Given the description of an element on the screen output the (x, y) to click on. 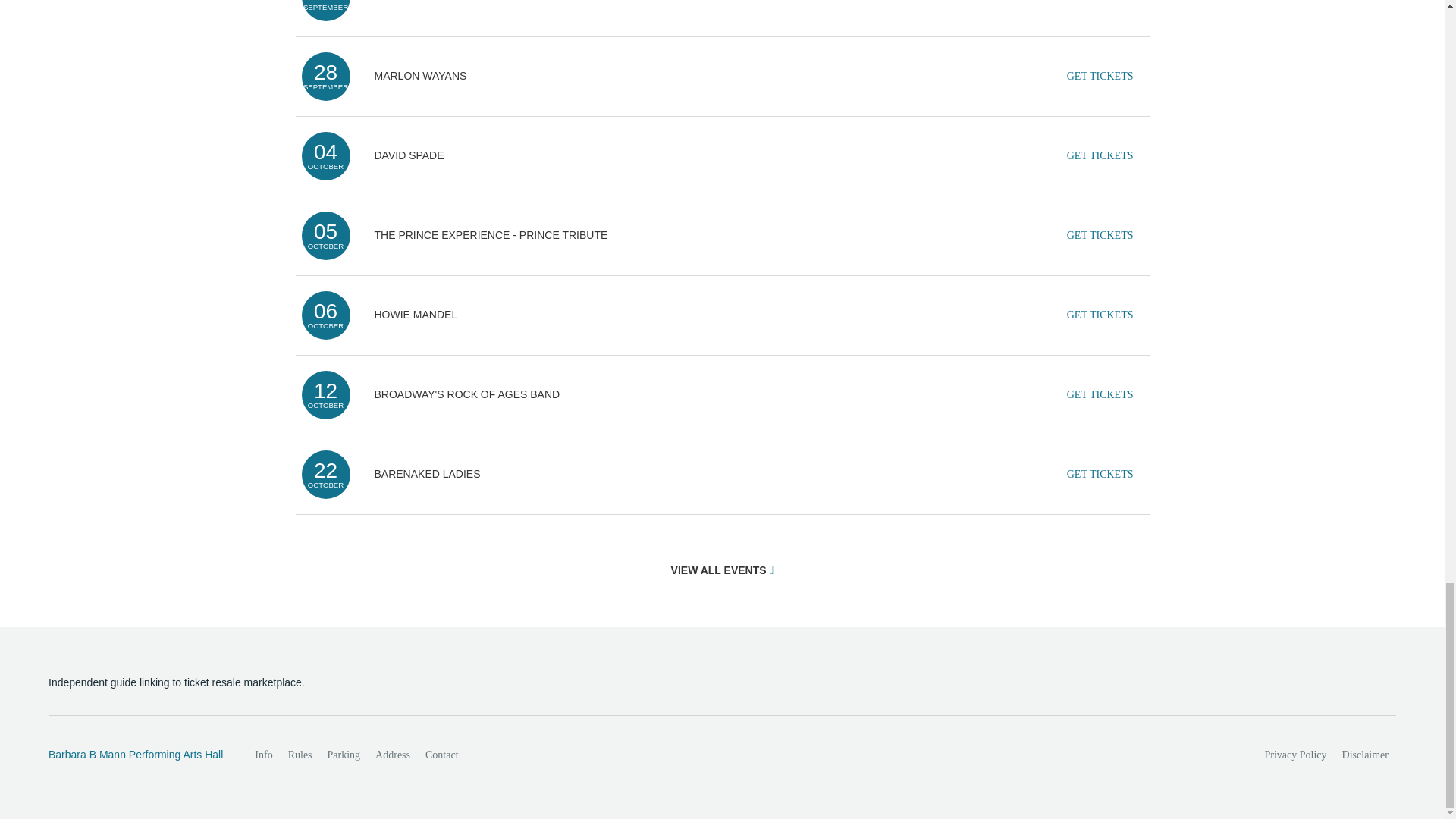
Privacy Policy (1296, 755)
GET TICKETS (1099, 5)
Parking (344, 755)
Info (263, 755)
GET TICKETS (1099, 76)
Contact (441, 755)
GET TICKETS (1099, 155)
Rules (300, 755)
Barbara B Mann Performing Arts Hall (135, 754)
Address (392, 755)
GET TICKETS (1099, 474)
Disclaimer (1365, 755)
VIEW ALL EVENTS (722, 570)
GET TICKETS (1099, 394)
GET TICKETS (1099, 315)
